Given the description of an element on the screen output the (x, y) to click on. 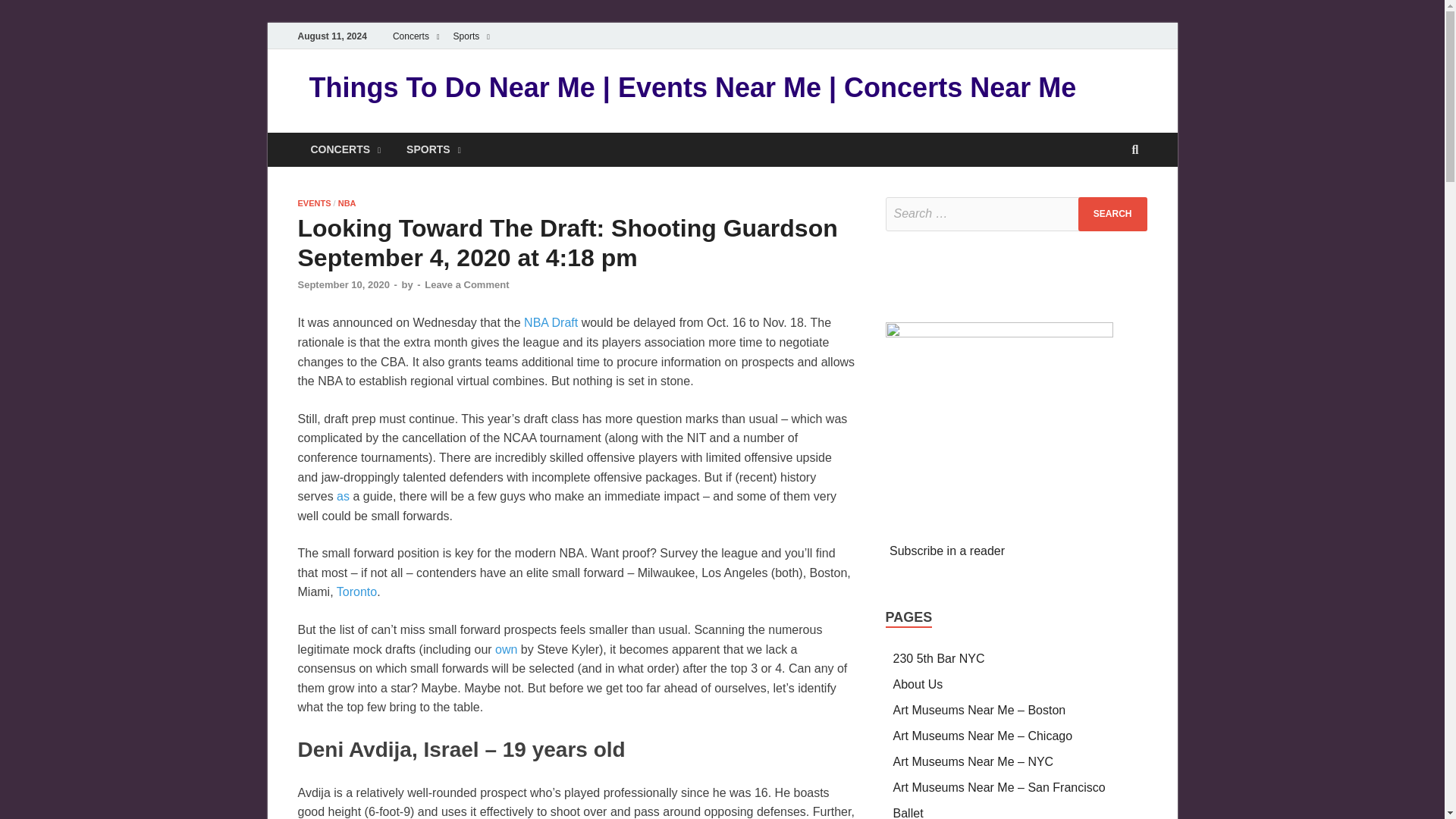
September 10, 2020 (342, 284)
Sports (471, 35)
own (505, 649)
as (342, 495)
CONCERTS (345, 149)
Concerts (415, 35)
Toronto (356, 591)
Search (1112, 213)
Search (1112, 213)
SPORTS (433, 149)
